Given the description of an element on the screen output the (x, y) to click on. 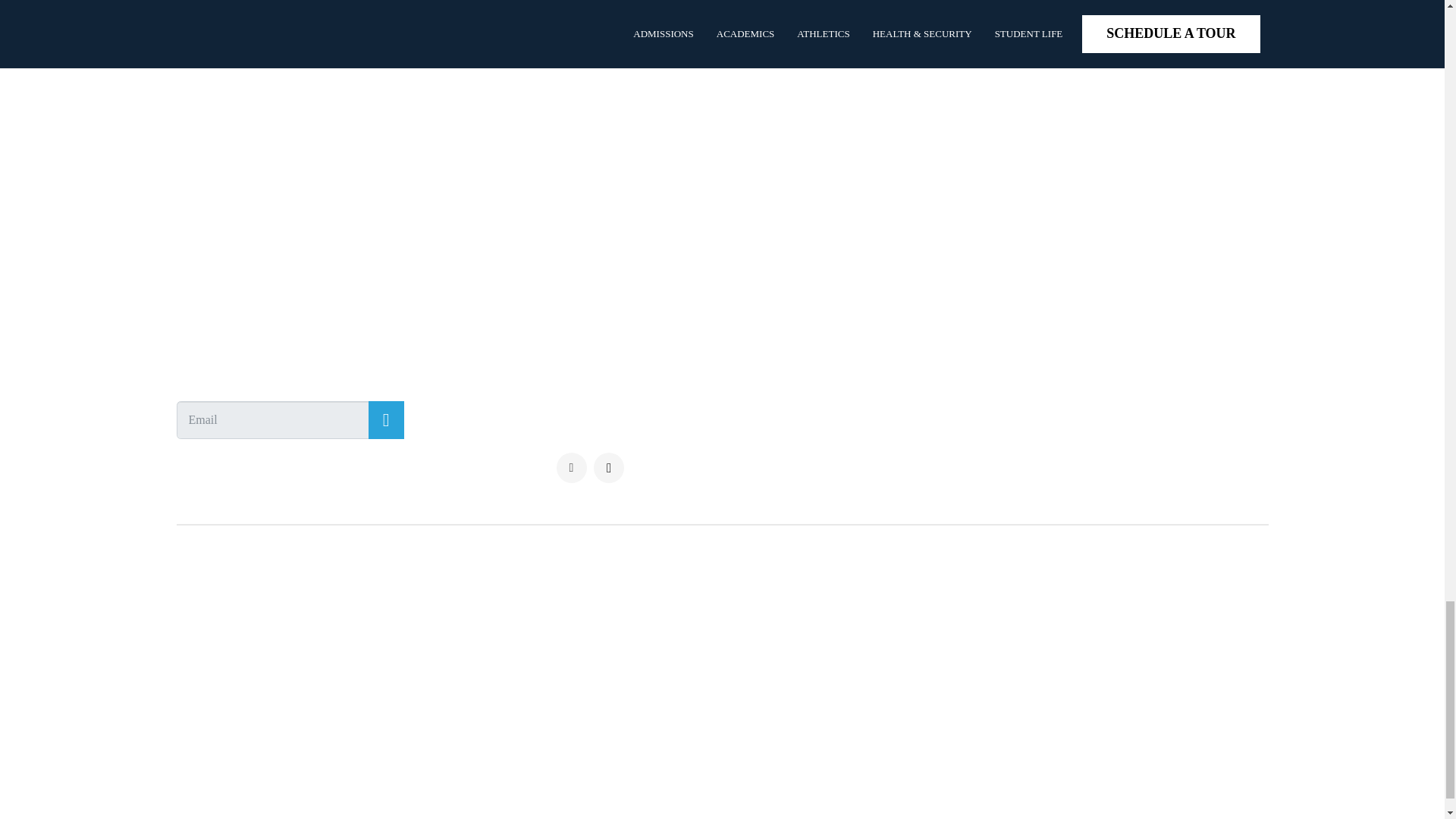
Instagram (609, 467)
Facebook (571, 467)
